Given the description of an element on the screen output the (x, y) to click on. 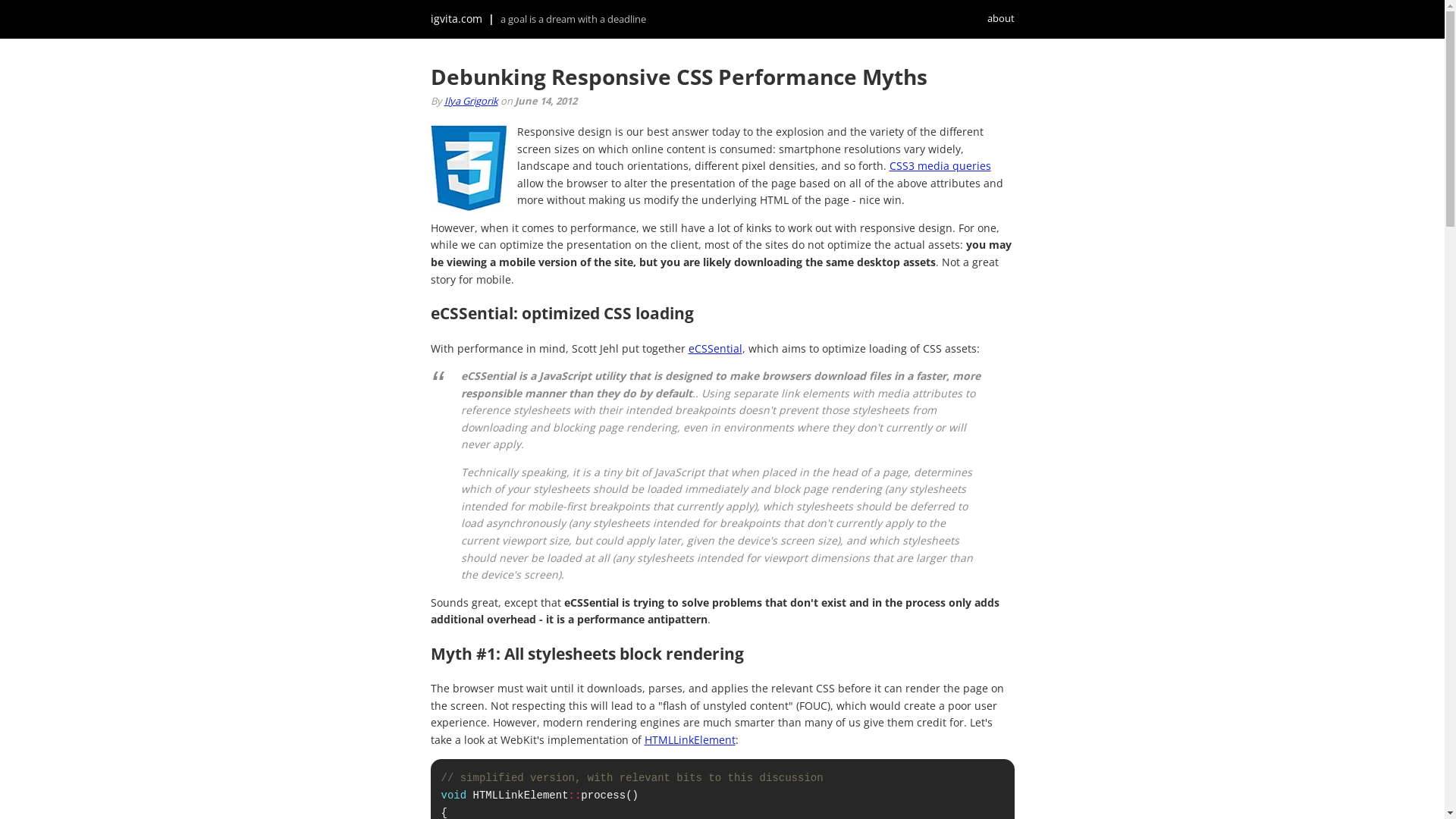
HTMLLinkElement Element type: text (689, 739)
Ilya Grigorik Element type: text (471, 100)
eCSSential Element type: text (715, 348)
about Element type: text (985, 18)
CSS3 media queries Element type: text (939, 165)
igvita.com Element type: text (456, 18)
